Given the description of an element on the screen output the (x, y) to click on. 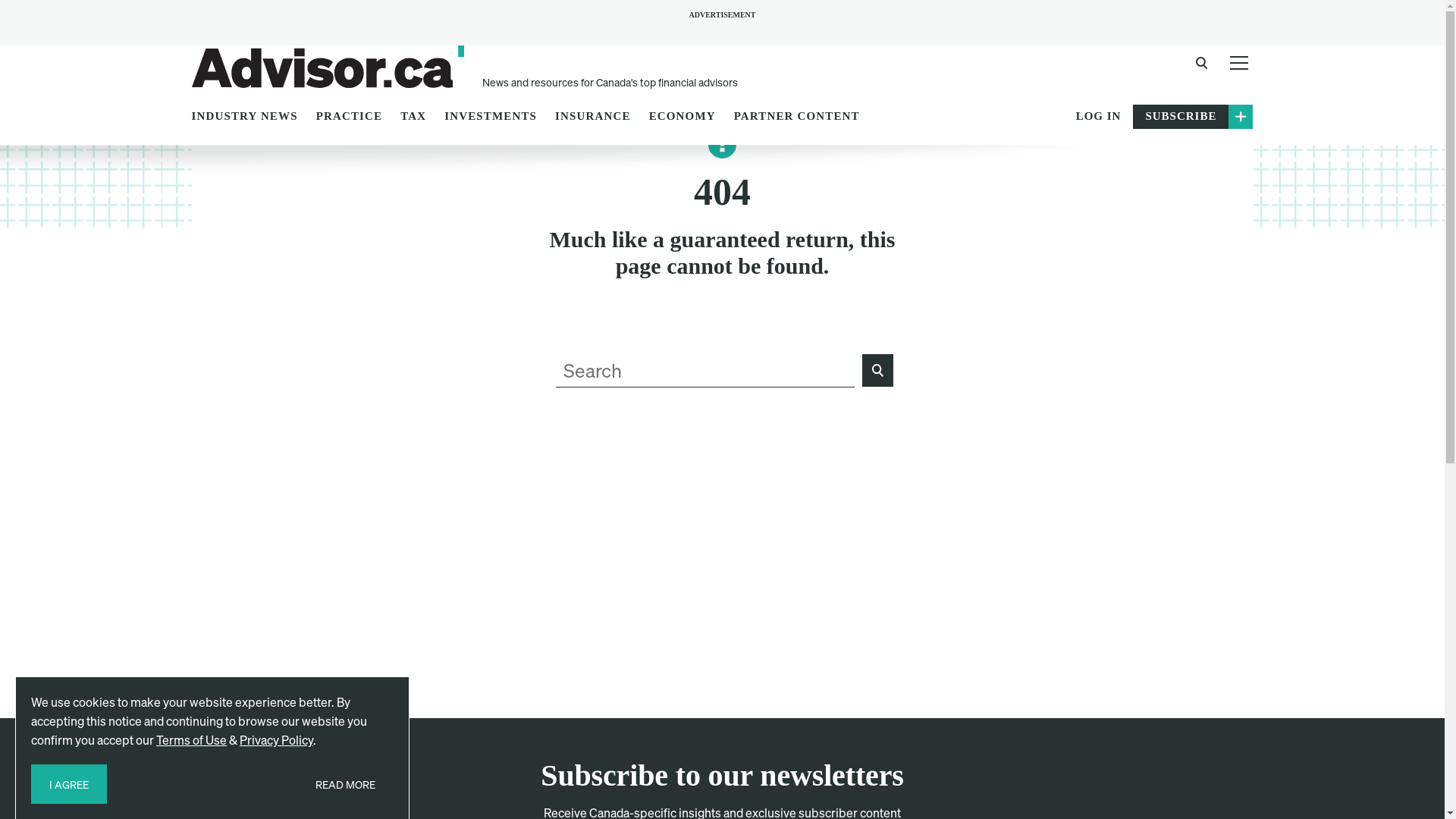
LOG IN Element type: text (1098, 116)
INVESTMENTS Element type: text (490, 117)
Terms of Use Element type: text (191, 739)
INSURANCE Element type: text (592, 117)
INDUSTRY NEWS Element type: text (244, 117)
READ MORE Element type: text (345, 783)
I AGREE Element type: text (68, 783)
Privacy Policy Element type: text (276, 739)
PRACTICE Element type: text (349, 117)
SUBSCRIBE Element type: text (1192, 116)
ECONOMY Element type: text (682, 117)
Open Menu Element type: hover (1238, 62)
PARTNER CONTENT Element type: text (796, 117)
TAX Element type: text (413, 117)
